Given the description of an element on the screen output the (x, y) to click on. 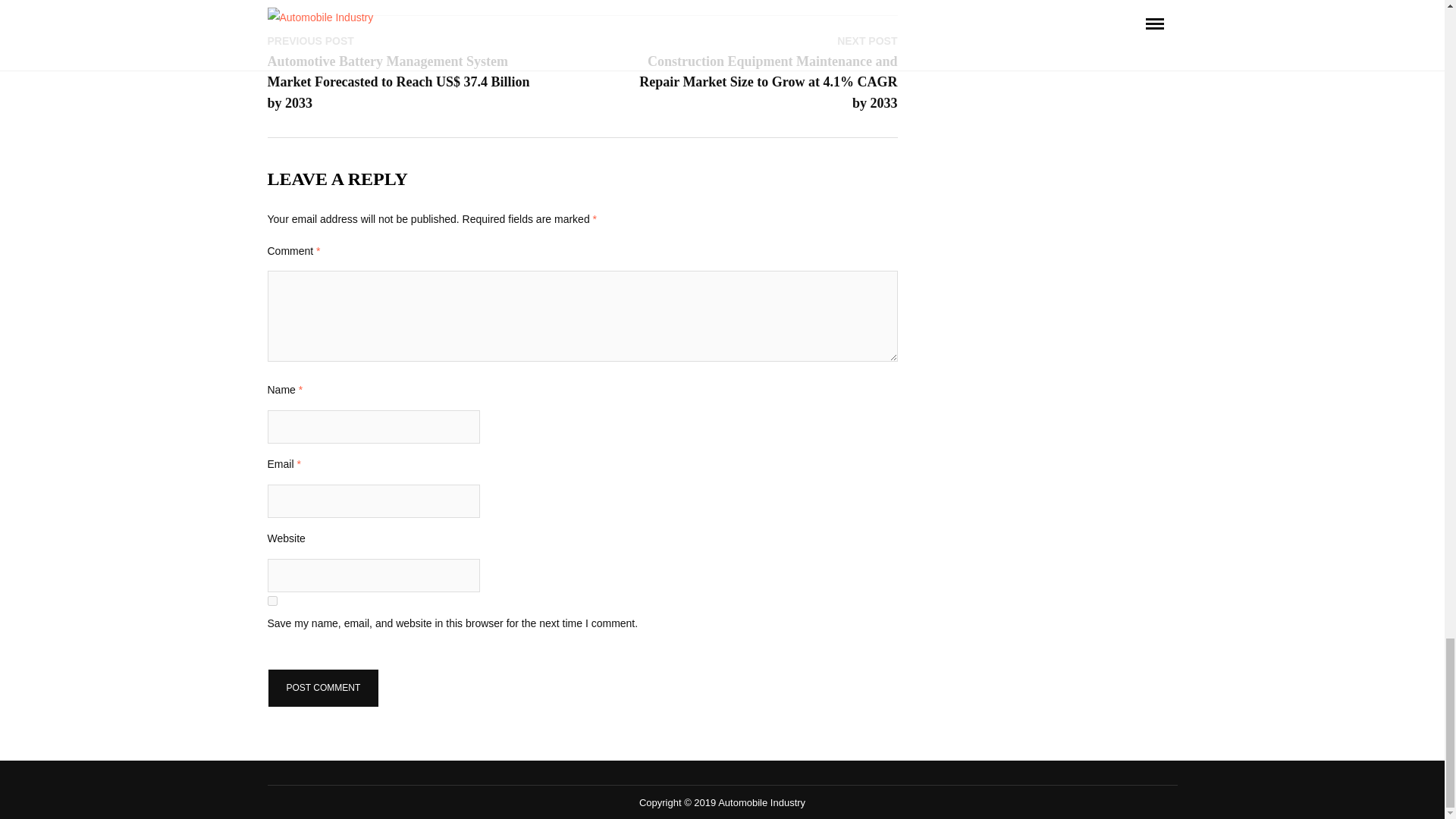
Post Comment (322, 688)
Post Comment (322, 688)
yes (271, 601)
